Given the description of an element on the screen output the (x, y) to click on. 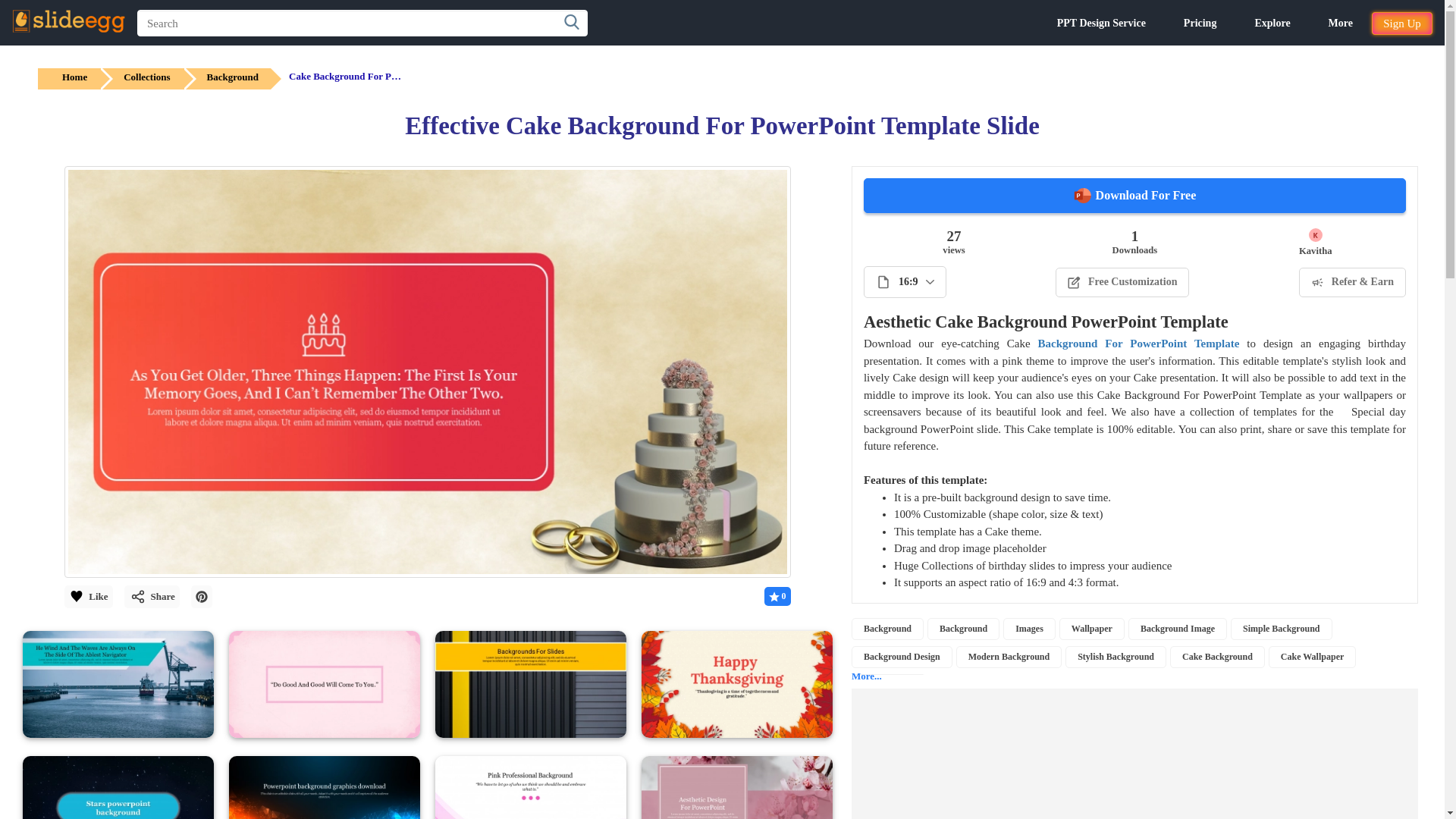
SlideEgg (68, 21)
Explore (1271, 22)
PPT Design Service (1101, 22)
Pricing (1200, 22)
